Given the description of an element on the screen output the (x, y) to click on. 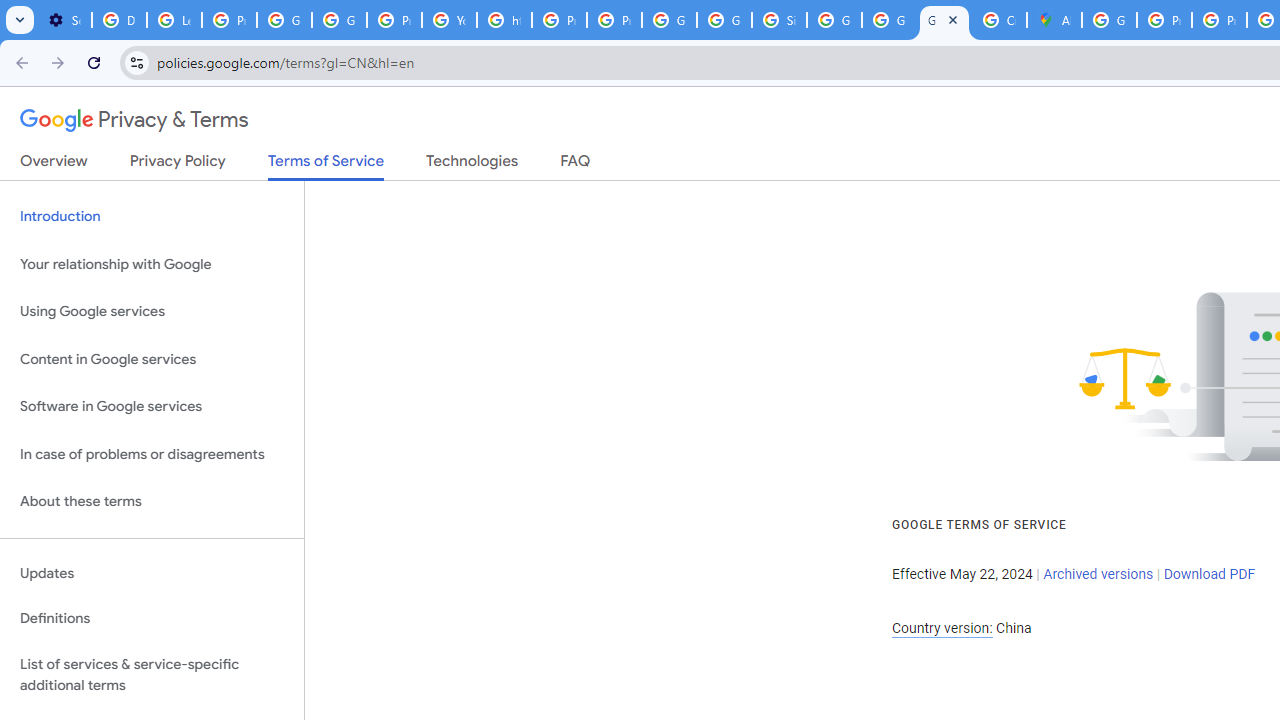
YouTube (449, 20)
Software in Google services (152, 407)
Delete photos & videos - Computer - Google Photos Help (119, 20)
Learn how to find your photos - Google Photos Help (174, 20)
In case of problems or disagreements (152, 453)
Sign in - Google Accounts (779, 20)
https://scholar.google.com/ (504, 20)
Updates (152, 573)
Settings - On startup (64, 20)
About these terms (152, 502)
Google Account Help (339, 20)
